Given the description of an element on the screen output the (x, y) to click on. 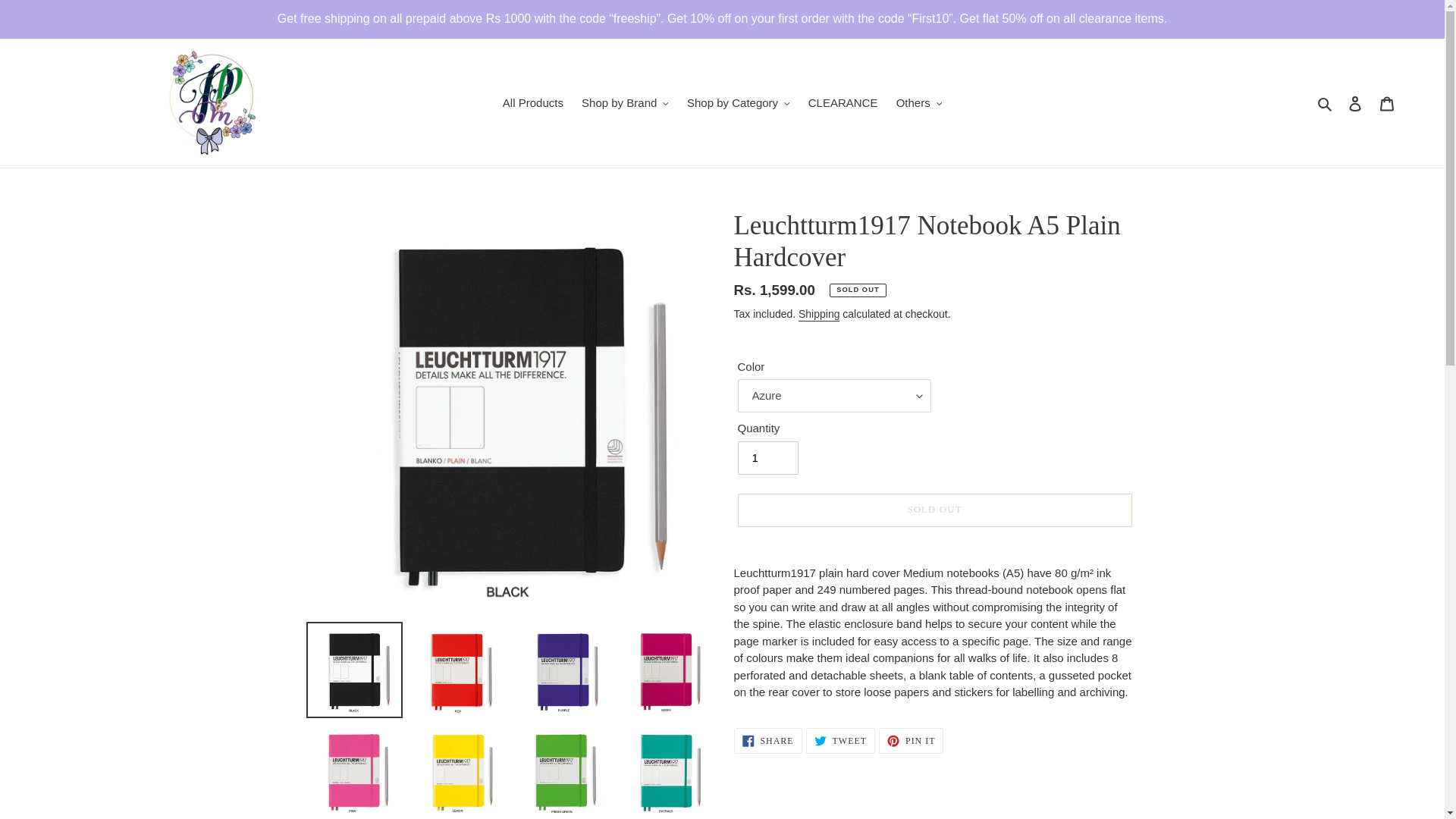
All Products (532, 103)
1 (766, 458)
Shop by Brand (625, 103)
